Given the description of an element on the screen output the (x, y) to click on. 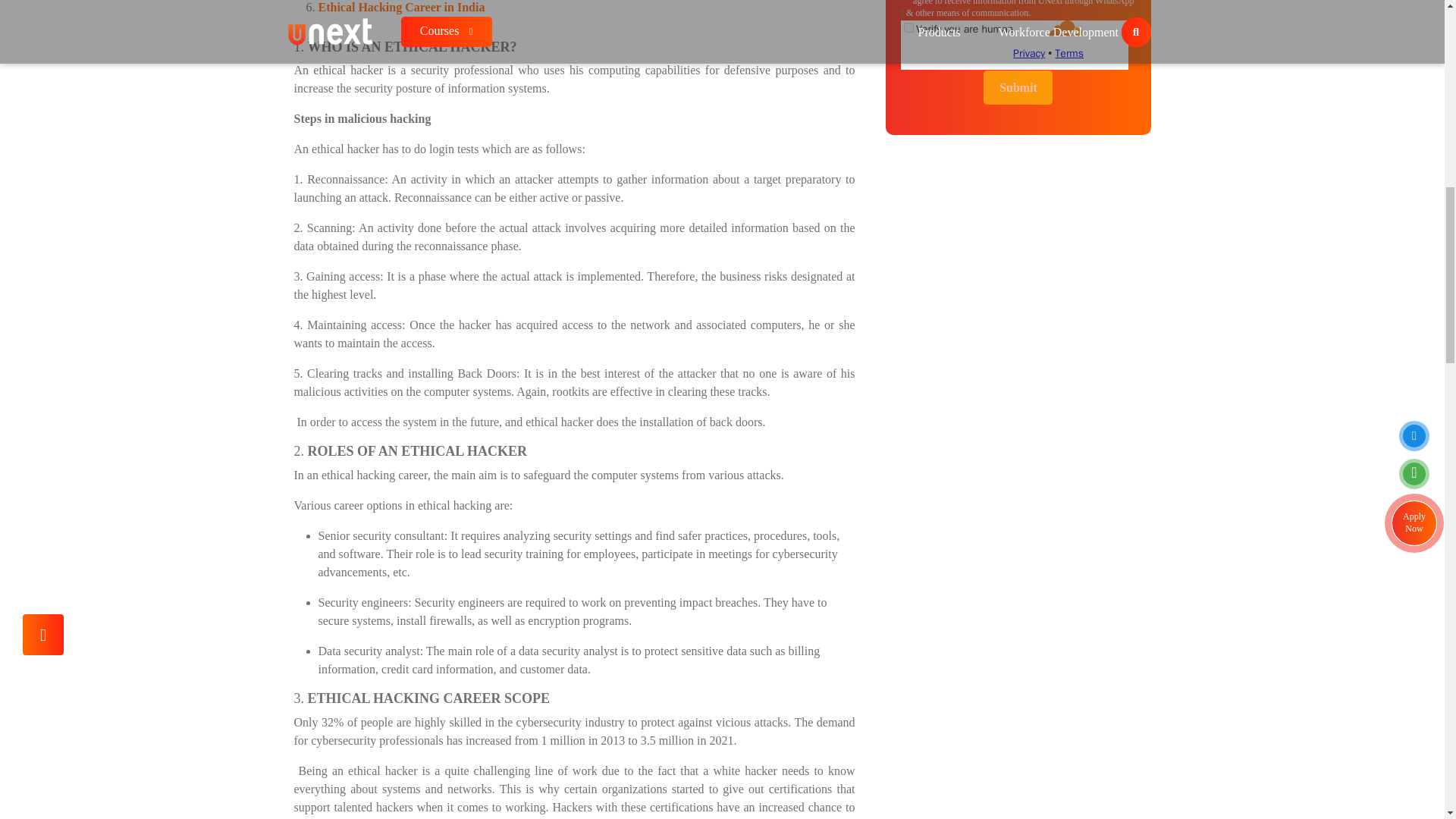
Submit (1018, 87)
Ethical Hacking Career in India (401, 6)
